Given the description of an element on the screen output the (x, y) to click on. 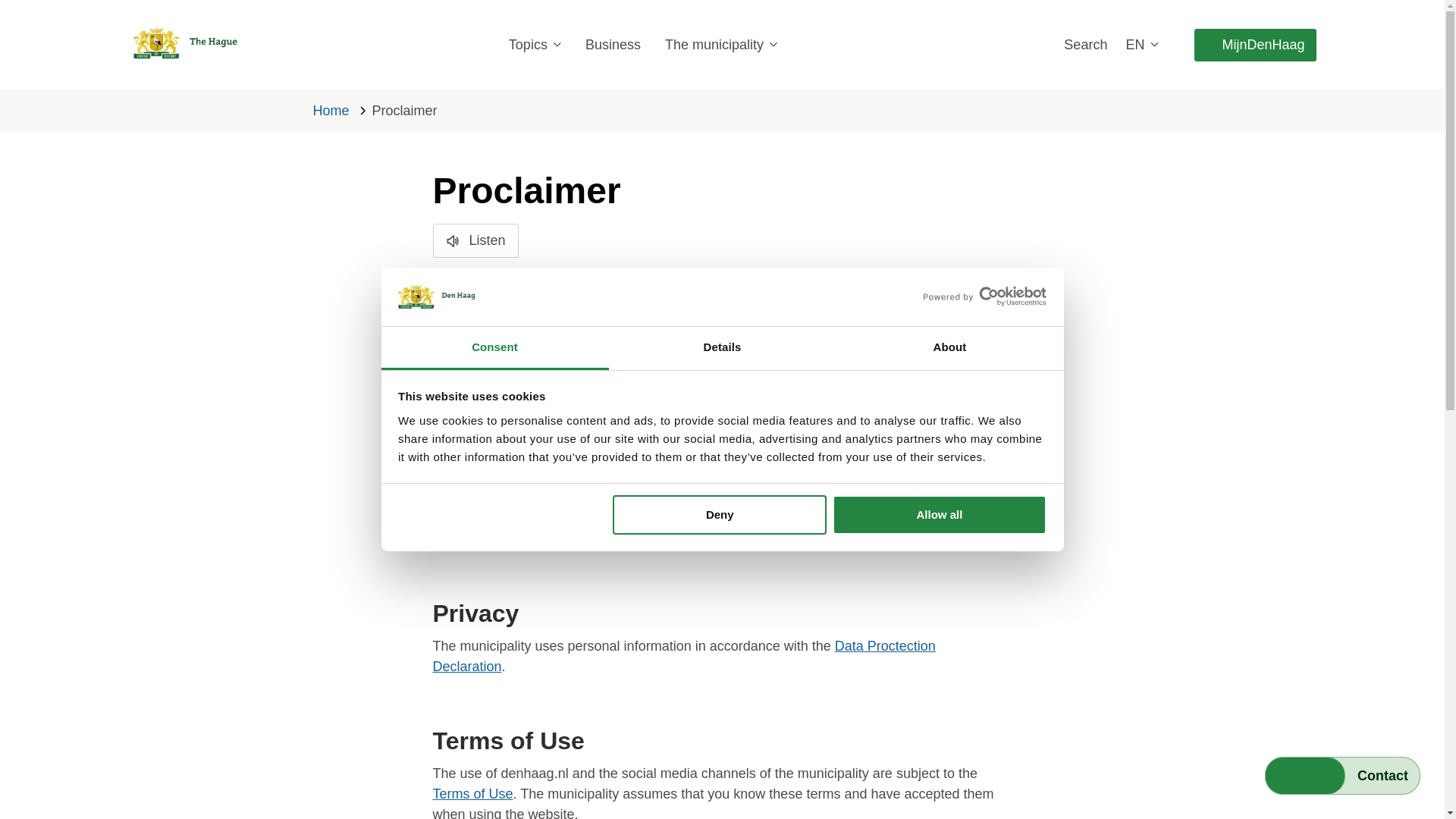
Onderwerpen (534, 44)
Details (721, 348)
About (948, 348)
Consent (494, 348)
